Given the description of an element on the screen output the (x, y) to click on. 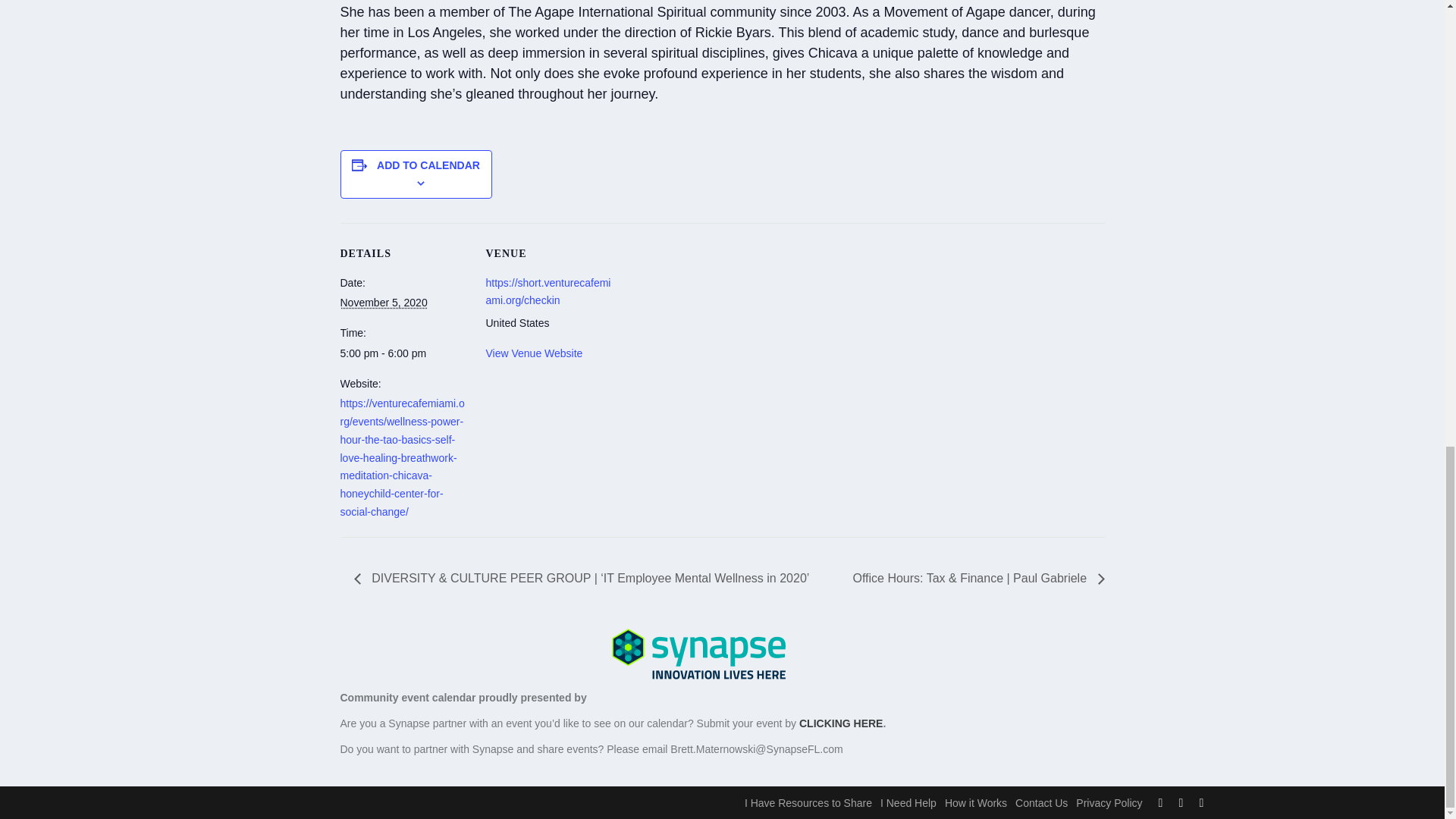
I Need Help (908, 802)
How it Works (975, 802)
Contact Us (1040, 802)
View Venue Website (533, 353)
CLICKING HERE (840, 723)
2020-11-05 (403, 353)
Privacy Policy (1108, 802)
I Have Resources to Share (808, 802)
2020-11-05 (382, 302)
ADD TO CALENDAR (428, 164)
